Given the description of an element on the screen output the (x, y) to click on. 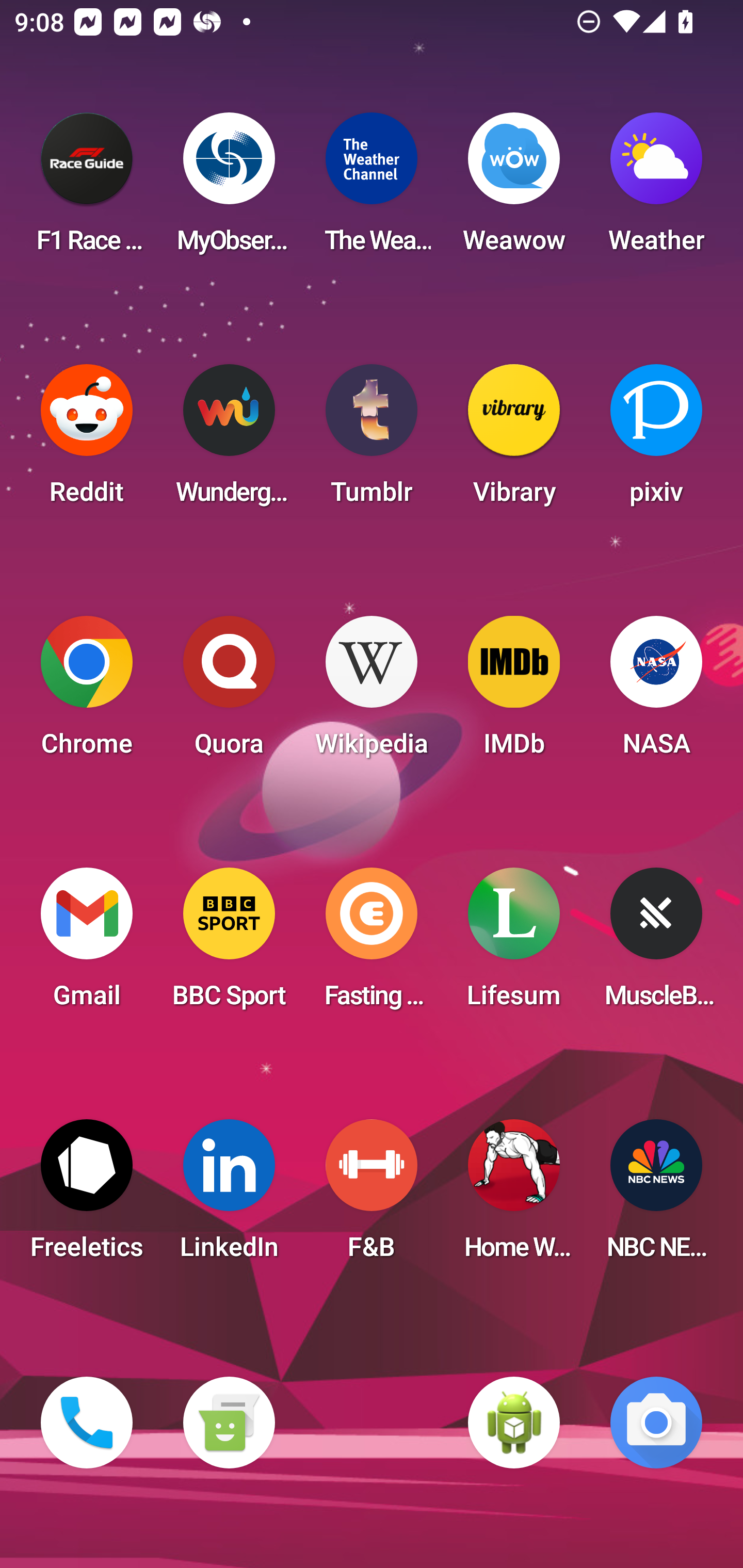
F1 Race Guide (86, 188)
MyObservatory (228, 188)
The Weather Channel (371, 188)
Weawow (513, 188)
Weather (656, 188)
Reddit (86, 440)
Wunderground (228, 440)
Tumblr (371, 440)
Vibrary (513, 440)
pixiv (656, 440)
Chrome (86, 692)
Quora (228, 692)
Wikipedia (371, 692)
IMDb (513, 692)
NASA (656, 692)
Gmail (86, 943)
BBC Sport (228, 943)
Fasting Coach (371, 943)
Lifesum (513, 943)
MuscleBooster (656, 943)
Freeletics (86, 1195)
LinkedIn (228, 1195)
F&B (371, 1195)
Home Workout (513, 1195)
NBC NEWS (656, 1195)
Phone (86, 1422)
Messaging (228, 1422)
WebView Browser Tester (513, 1422)
Camera (656, 1422)
